Given the description of an element on the screen output the (x, y) to click on. 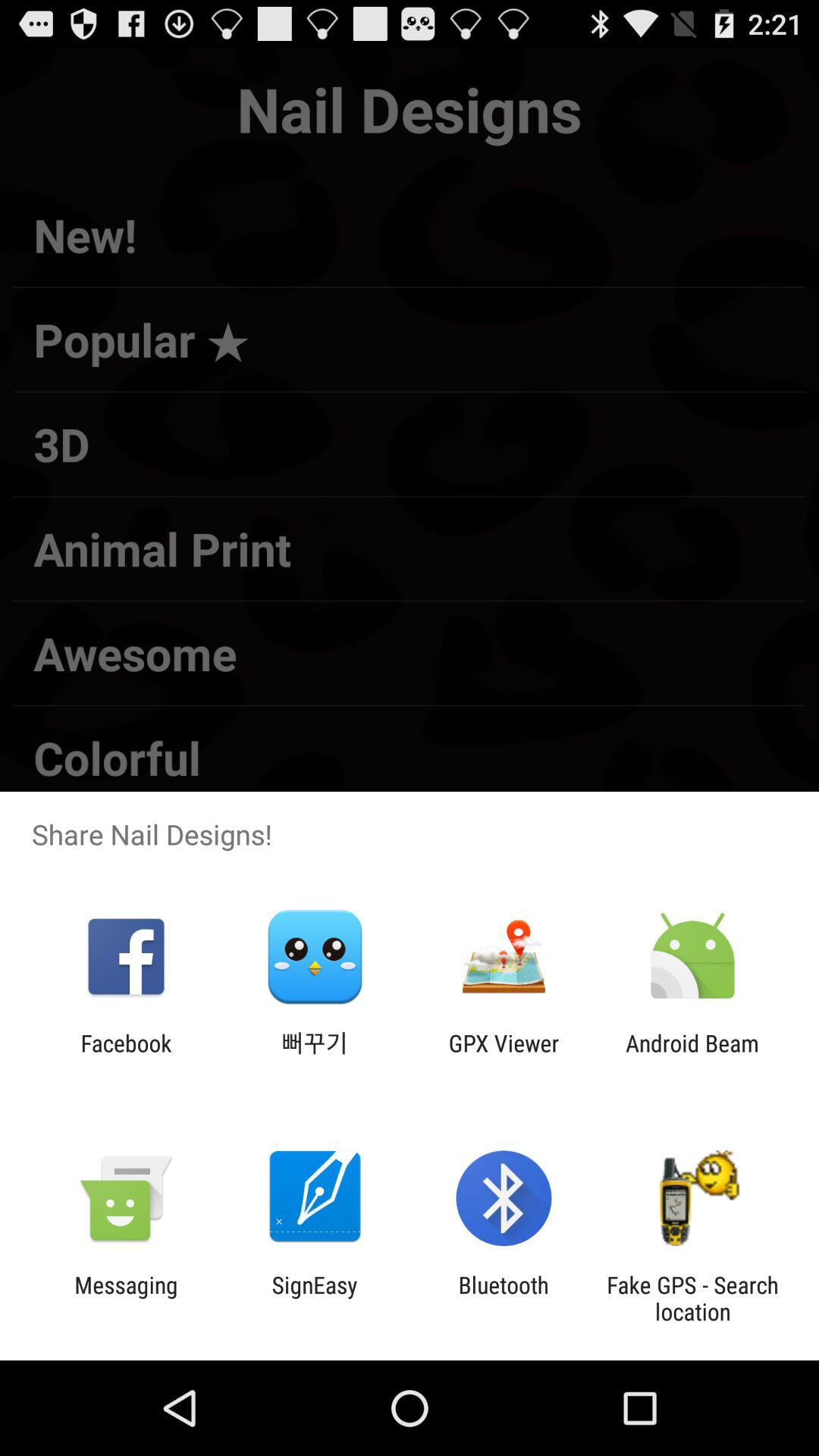
turn off item next to the android beam (503, 1056)
